Given the description of an element on the screen output the (x, y) to click on. 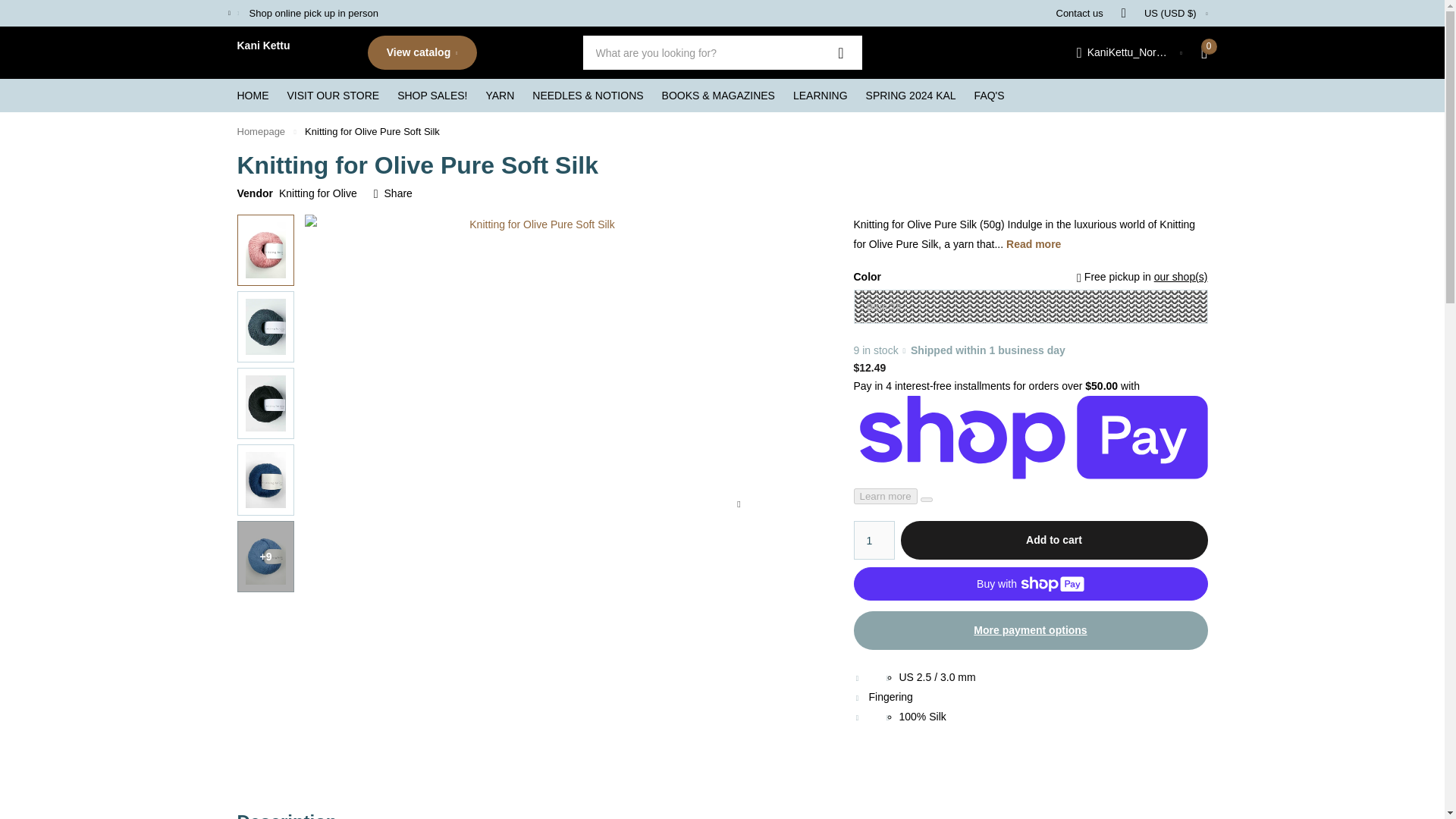
Contact us (1078, 13)
1 (874, 539)
Home (260, 131)
View catalog (421, 52)
